Given the description of an element on the screen output the (x, y) to click on. 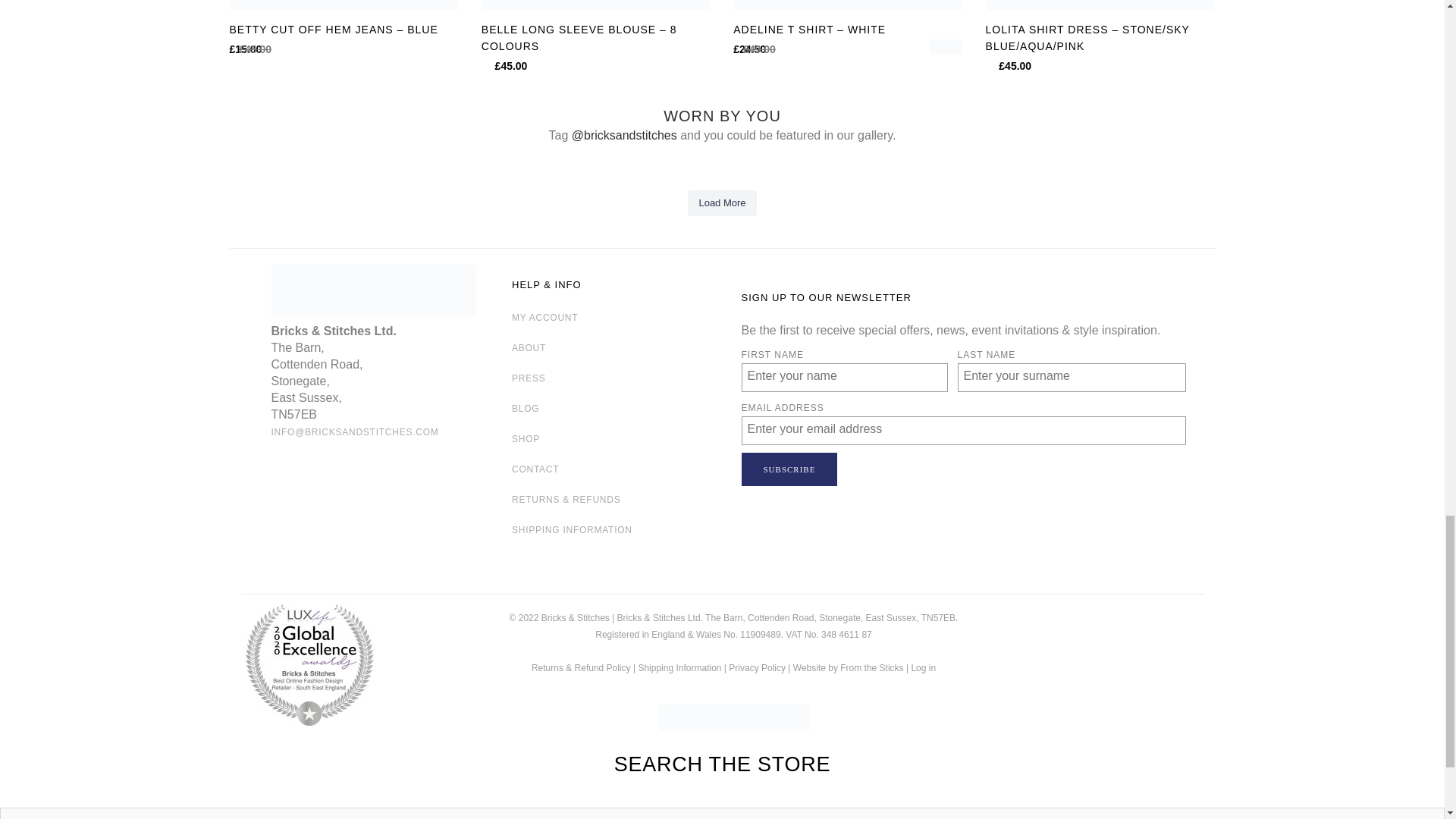
Subscribe (789, 469)
